Given the description of an element on the screen output the (x, y) to click on. 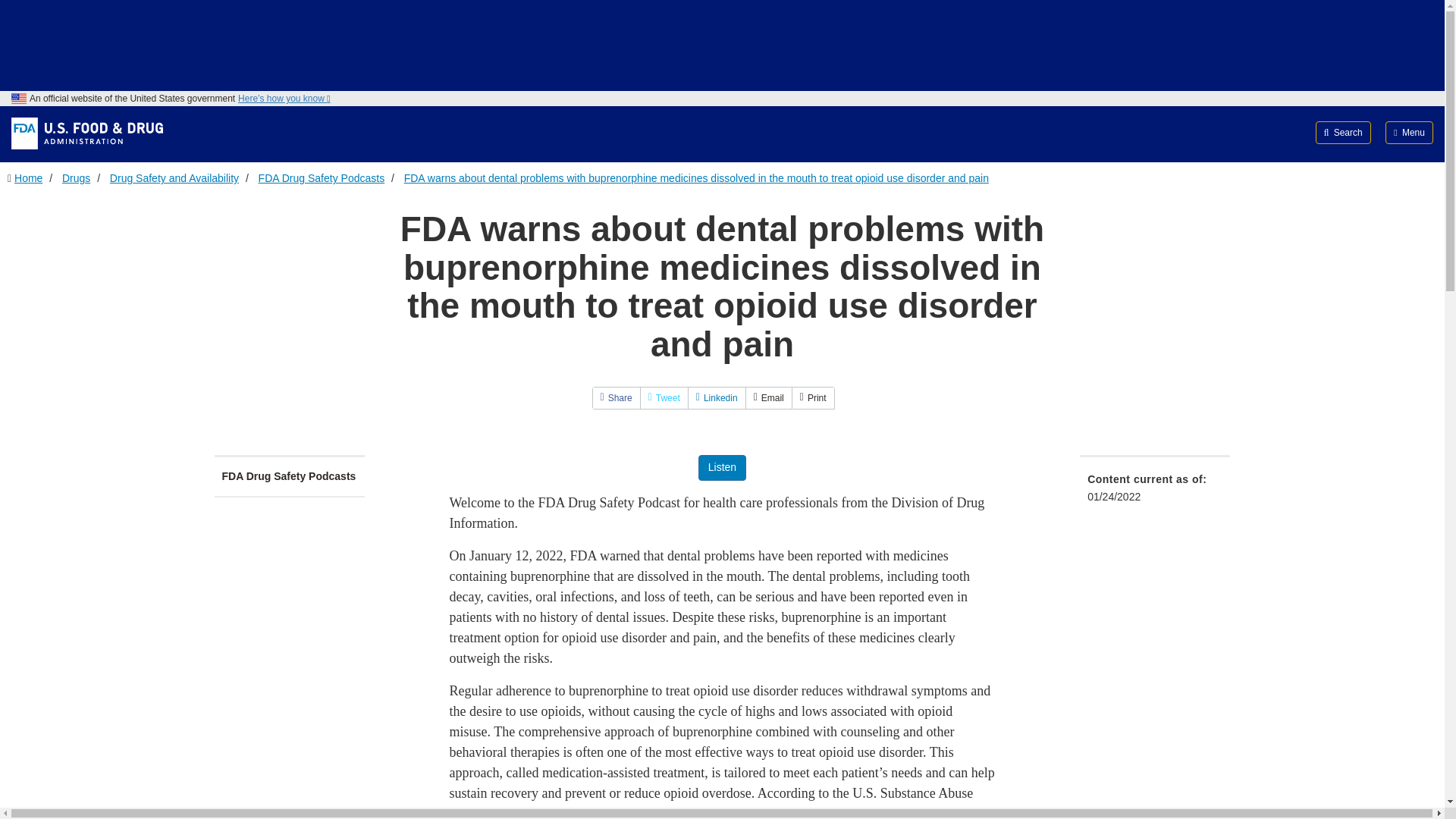
Print this page (813, 397)
  Menu (1409, 132)
  Search (1343, 132)
